Given the description of an element on the screen output the (x, y) to click on. 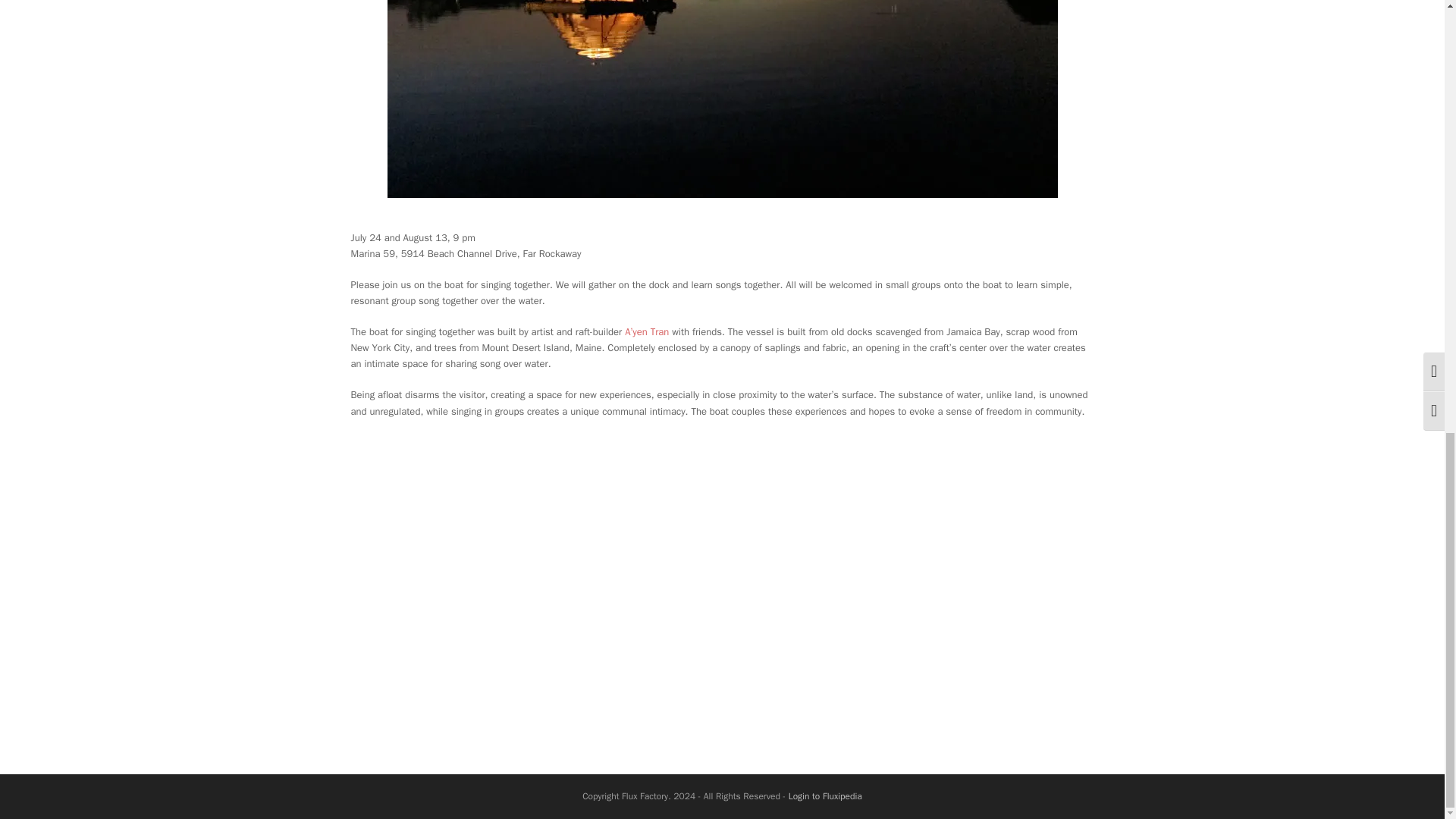
a'yen tran web (722, 99)
This external link will open in a new window (646, 331)
Login to Fluxipedia (825, 796)
